Given the description of an element on the screen output the (x, y) to click on. 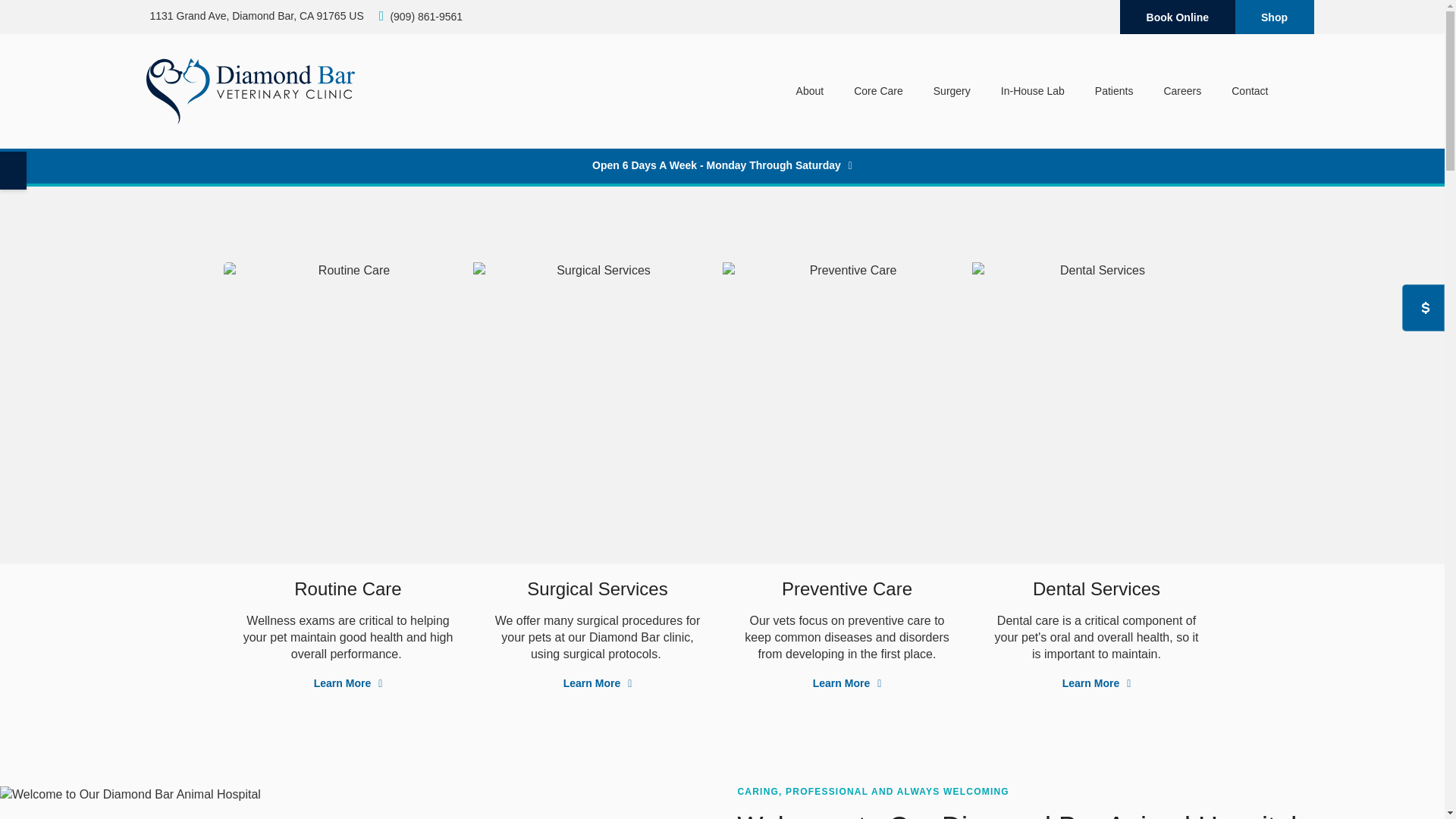
Book Online (1176, 17)
Shop (1273, 17)
Core Care (878, 90)
About (810, 90)
